Given the description of an element on the screen output the (x, y) to click on. 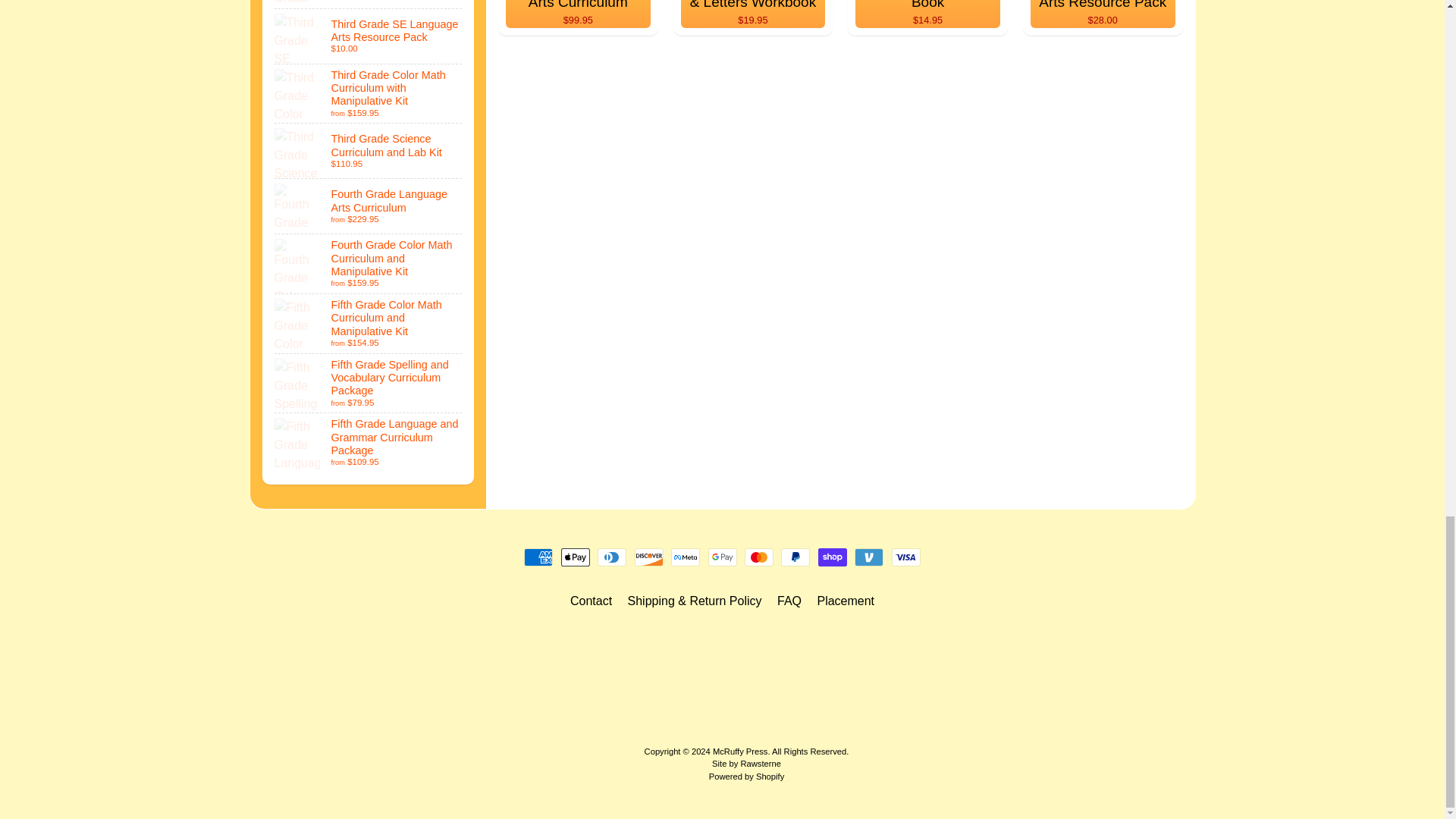
PayPal (794, 556)
Google Pay (721, 556)
Shop Pay (832, 556)
Visa (905, 556)
Discover (648, 556)
Third Grade Color Math Curriculum with Manipulative Kit (369, 93)
Third Grade SE Language Arts Resource Pack (369, 36)
Venmo (868, 556)
Apple Pay (574, 556)
Mastercard (758, 556)
